Given the description of an element on the screen output the (x, y) to click on. 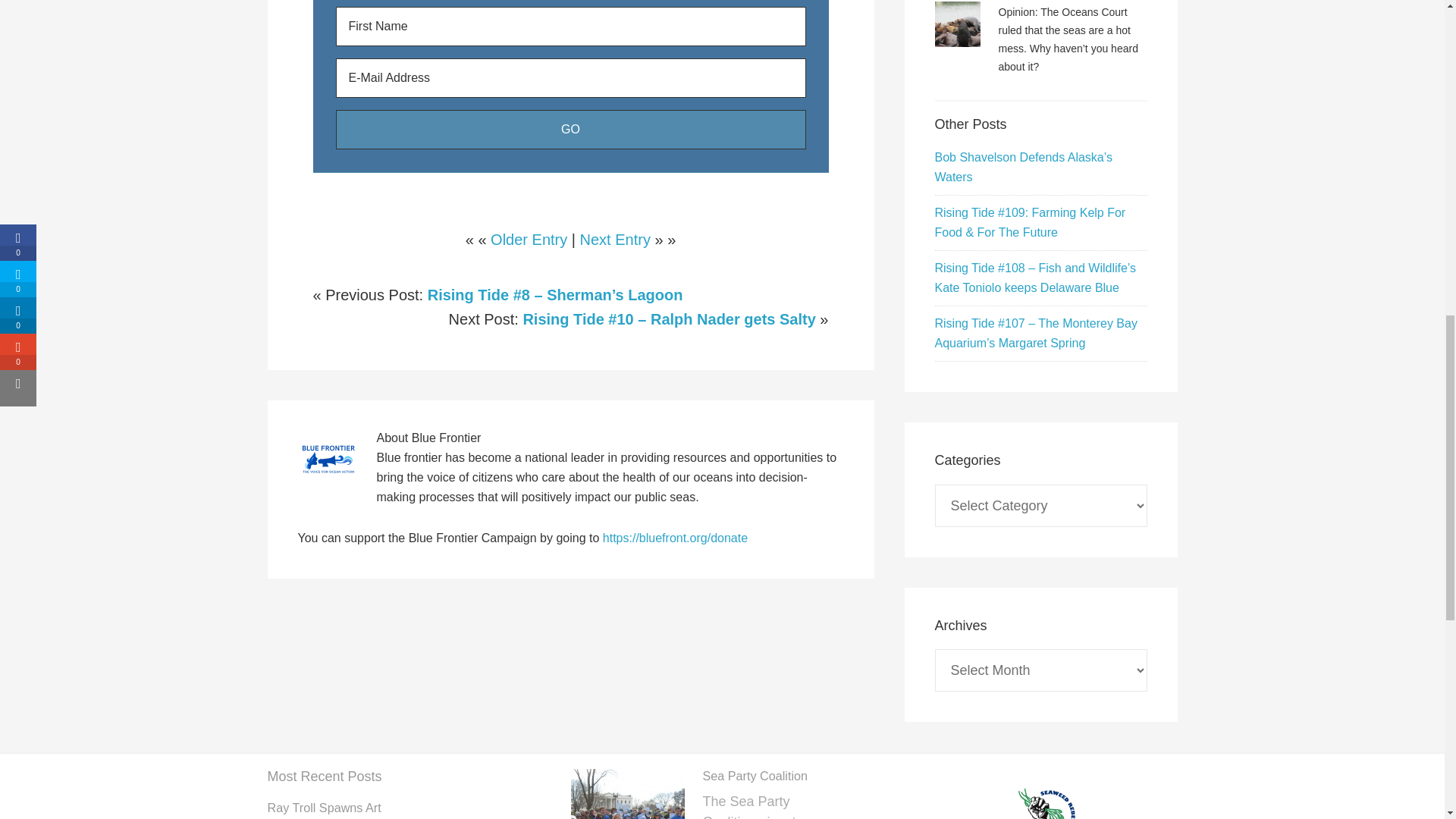
Go (569, 129)
Sea Party Coalition (754, 775)
Sea Party Coalition (627, 794)
About Us (1047, 794)
